Given the description of an element on the screen output the (x, y) to click on. 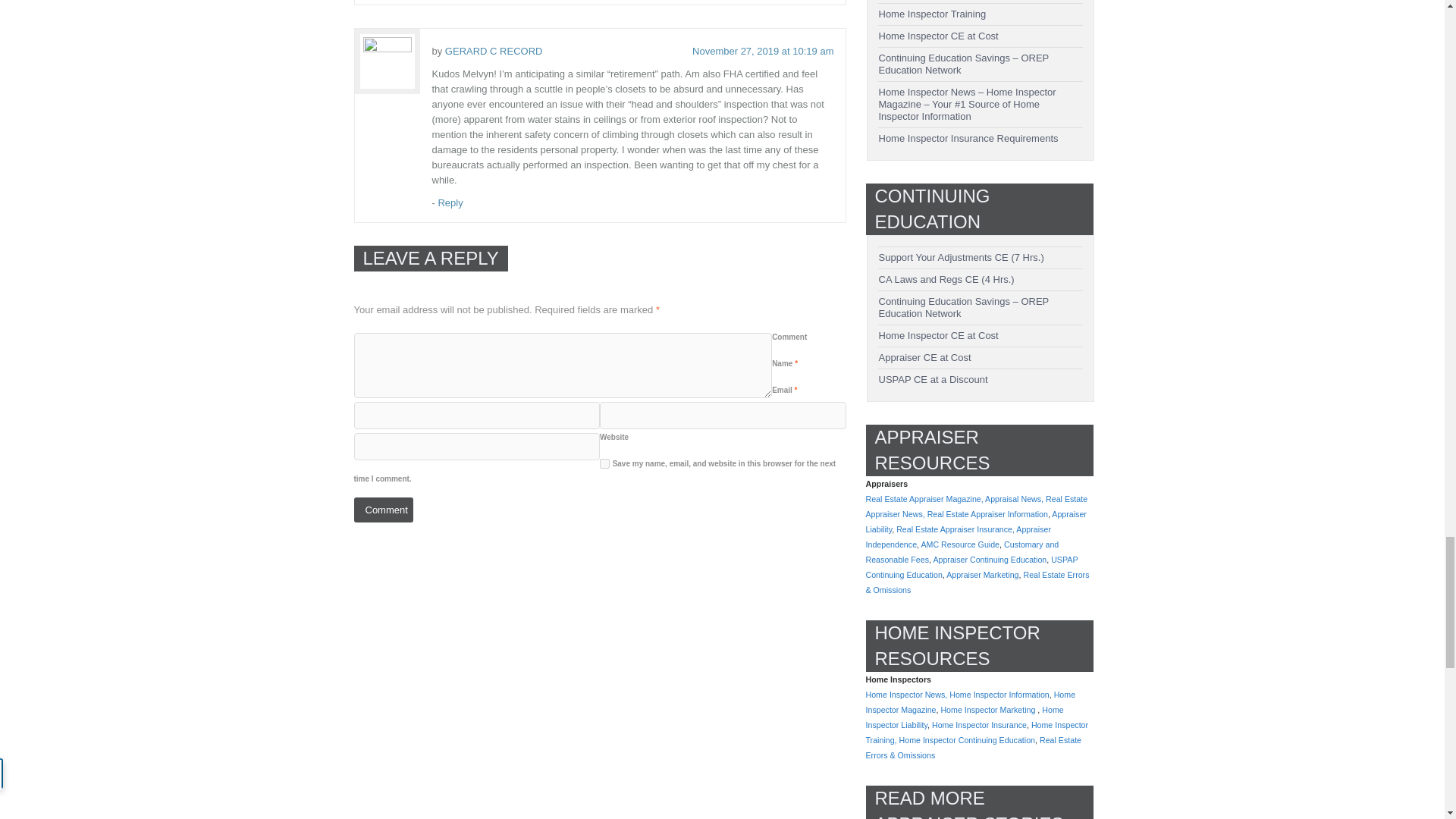
yes (604, 463)
Comment (382, 509)
